Given the description of an element on the screen output the (x, y) to click on. 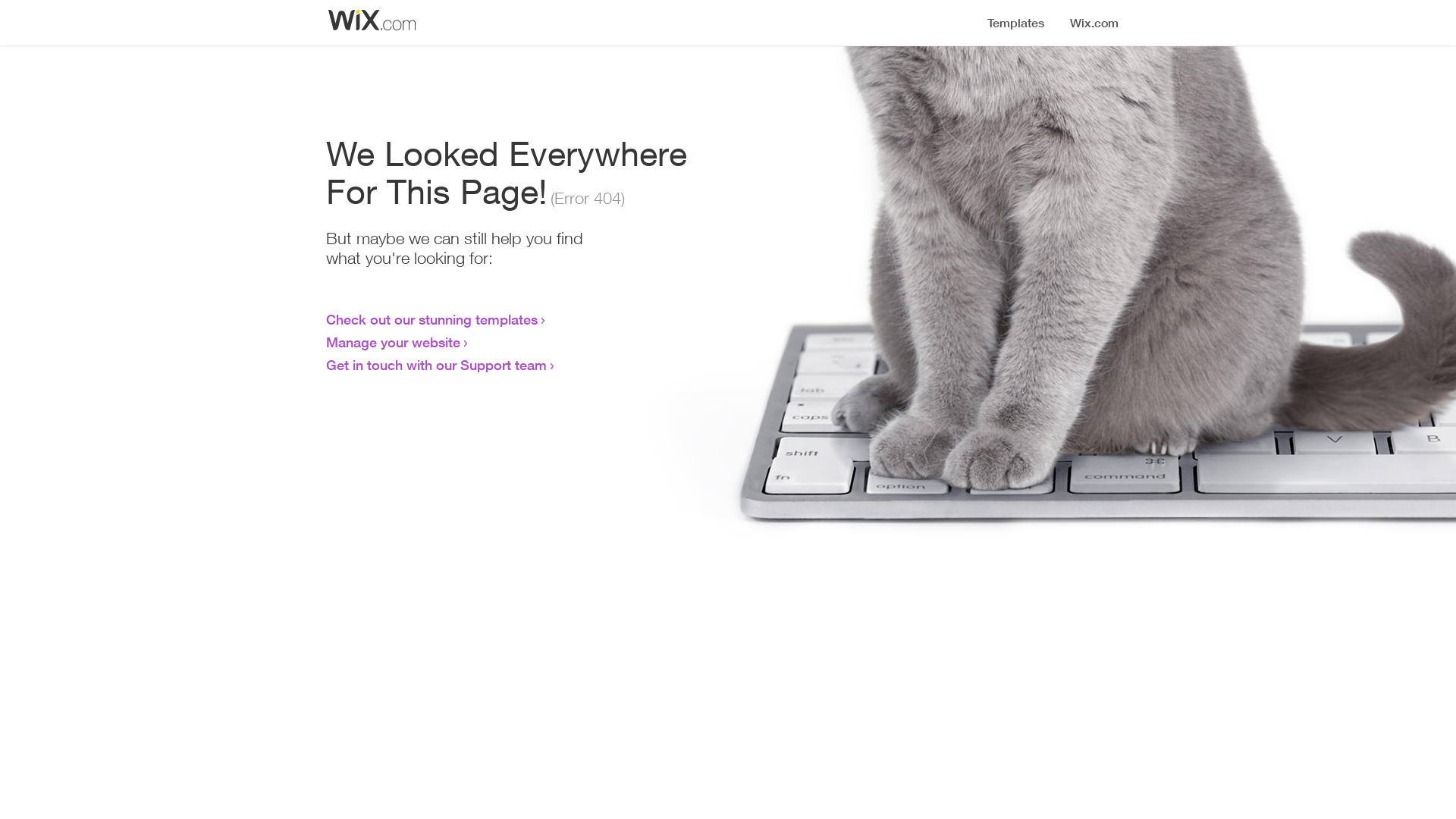
Check out our stunning templates Element type: text (431, 318)
Manage your website Element type: text (393, 341)
Get in touch with our Support team Element type: text (436, 364)
